Given the description of an element on the screen output the (x, y) to click on. 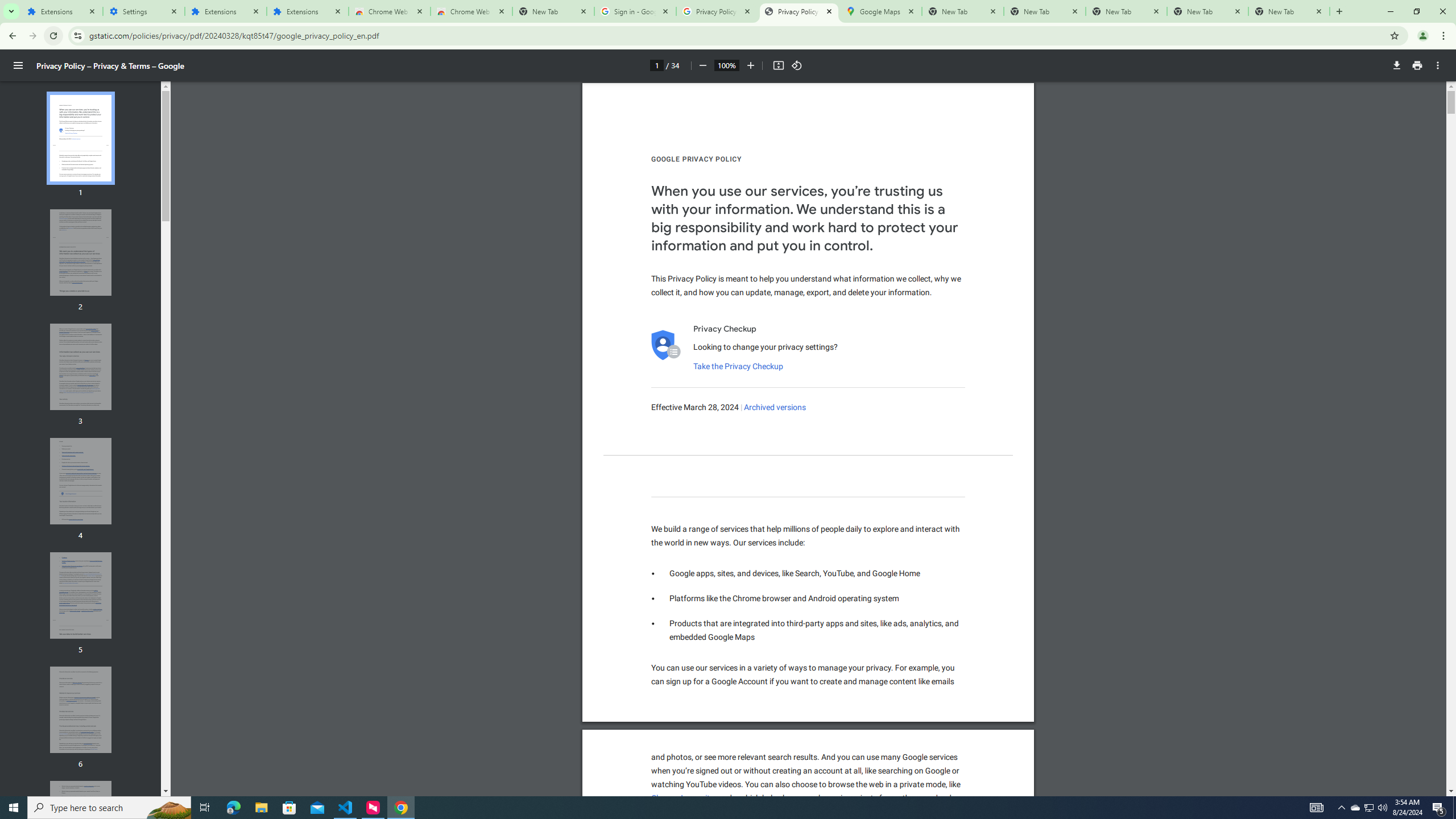
Sign in - Google Accounts (635, 11)
Thumbnail for page 6 (80, 709)
Download (1396, 65)
Thumbnail for page 4 (80, 481)
New Tab (552, 11)
Thumbnail for page 1 (80, 138)
Settings (143, 11)
Thumbnail for page 3 (80, 366)
Print (1416, 65)
Fit to page (777, 65)
